Given the description of an element on the screen output the (x, y) to click on. 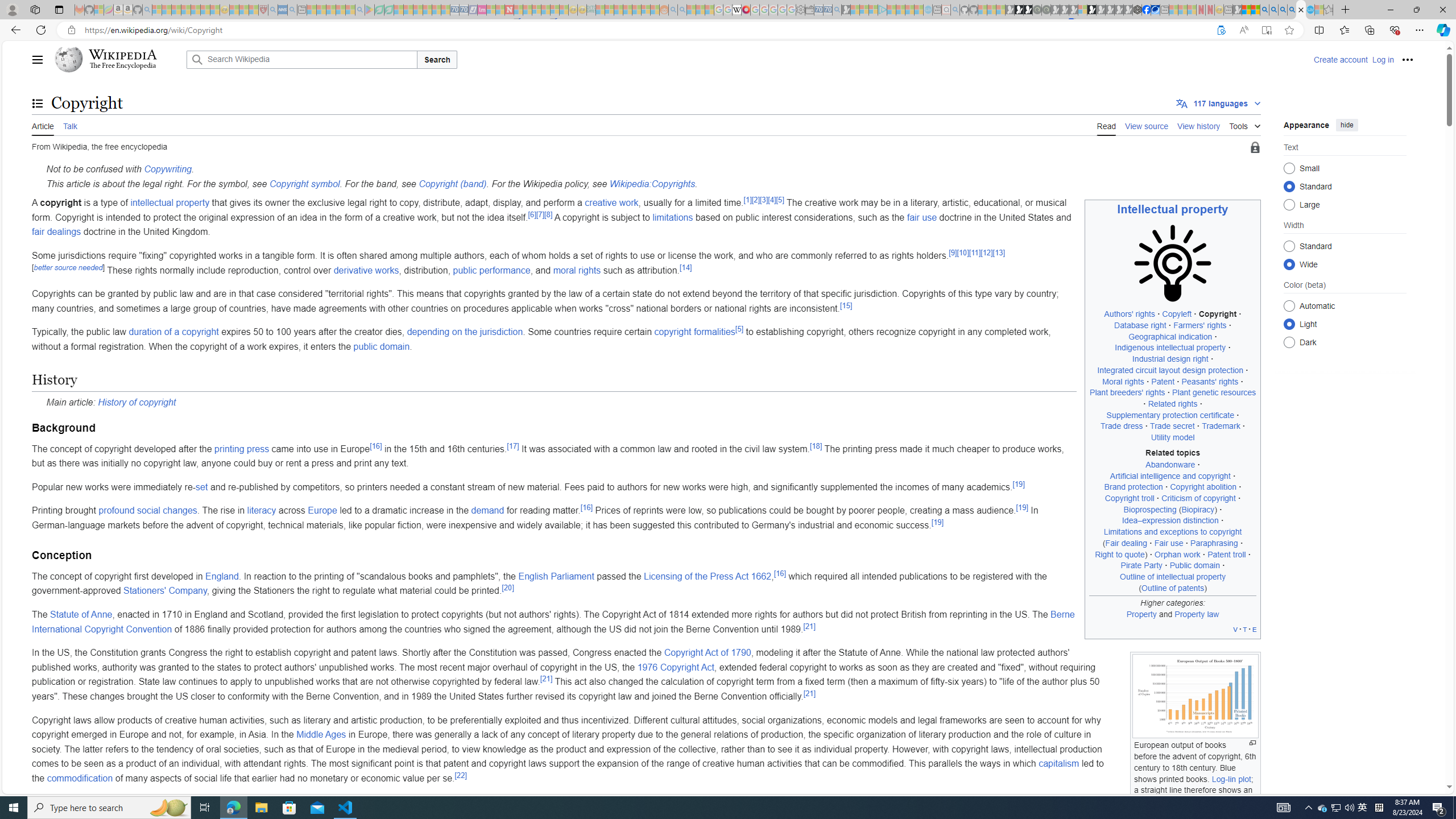
Workspaces (34, 9)
Recipes - MSN - Sleeping (234, 9)
Robert H. Shmerling, MD - Harvard Health - Sleeping (263, 9)
Right to quote (1119, 554)
Patent (1162, 381)
Licensing of the Press Act 1662 (707, 575)
English Parliament (556, 575)
Database right (1139, 325)
Terms of Use Agreement - Sleeping (378, 9)
Bing AI - Search (1264, 9)
Abandonware (1170, 464)
NCL Adult Asthma Inhaler Choice Guideline - Sleeping (282, 9)
Supplementary protection certificate (1170, 414)
